Given the description of an element on the screen output the (x, y) to click on. 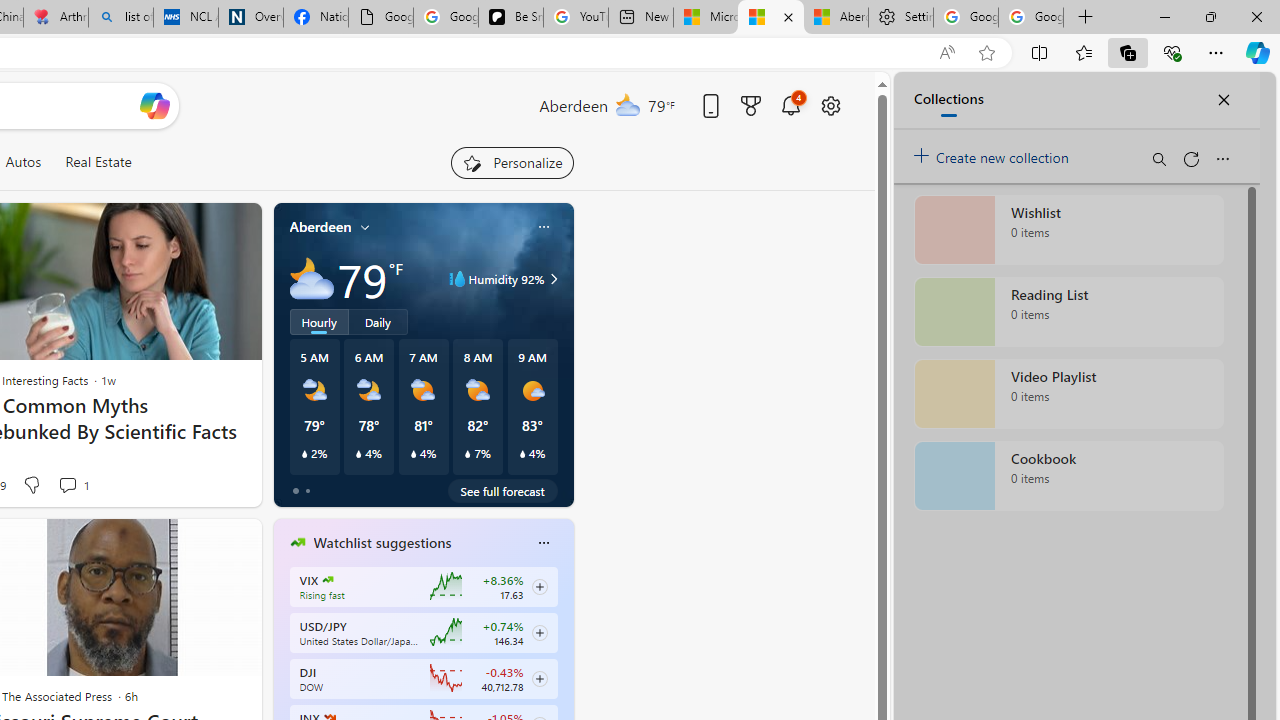
Watchlist suggestions (382, 543)
tab-1 (306, 490)
Daily (378, 321)
Class: weather-arrow-glyph (554, 278)
